Given the description of an element on the screen output the (x, y) to click on. 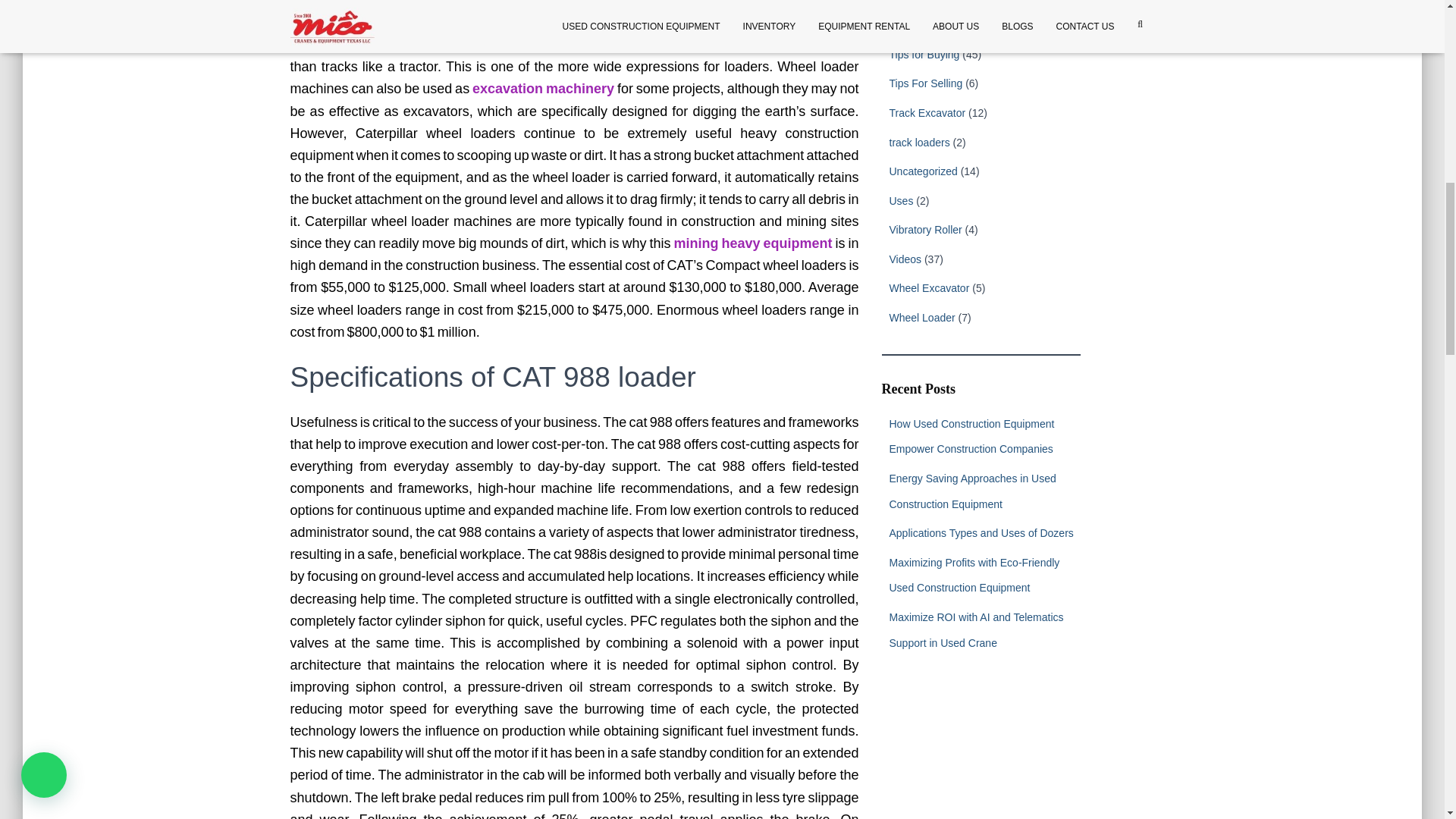
mining heavy equipment (753, 242)
Safety Tips (914, 1)
Specification (918, 24)
excavation machinery (544, 88)
